Given the description of an element on the screen output the (x, y) to click on. 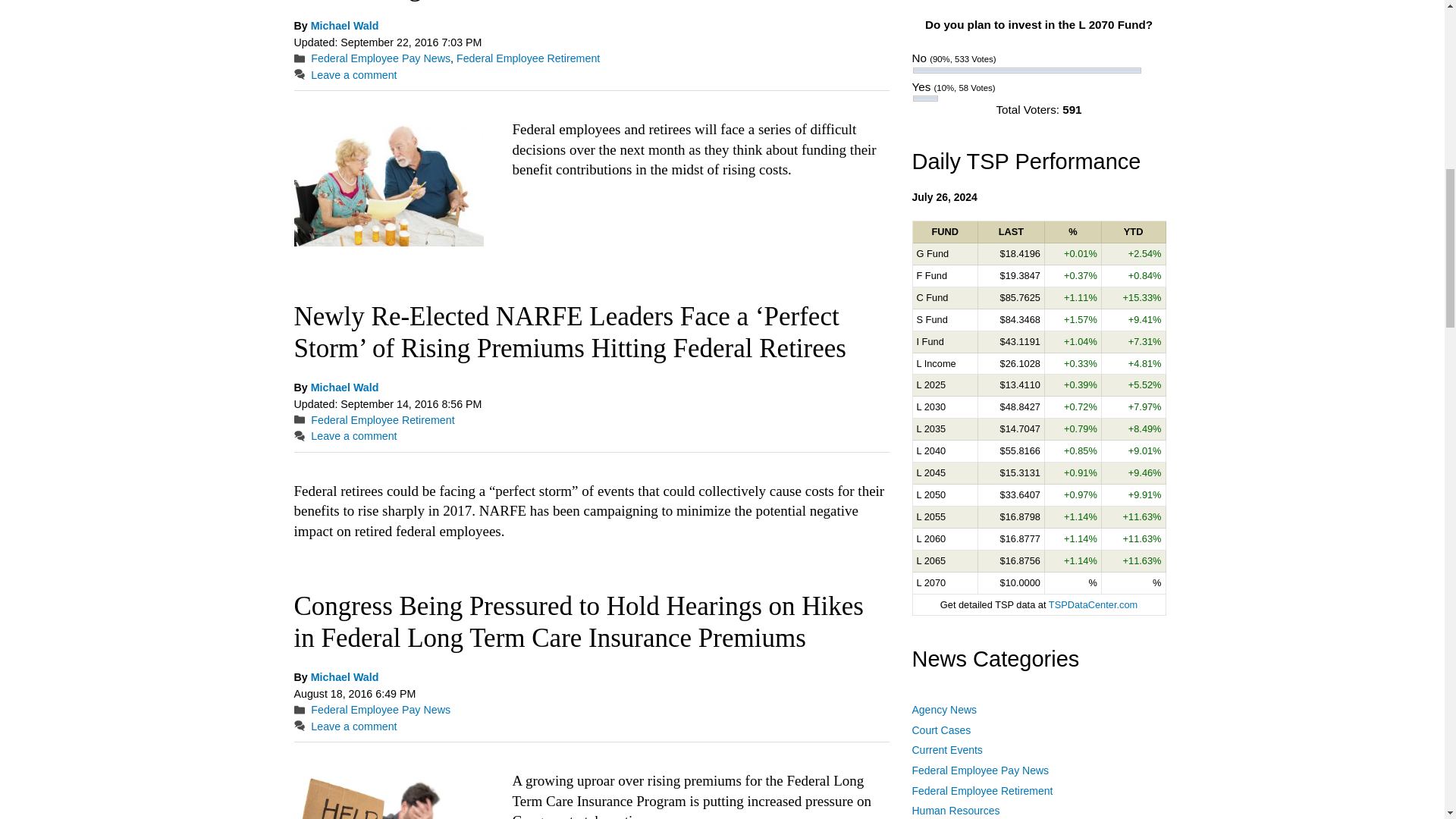
Federal Employee Retirement (382, 419)
Leave a comment (353, 726)
View all articles by Michael Wald (344, 25)
Michael Wald (344, 25)
Federal Employee Pay News (380, 709)
View all articles by Michael Wald (344, 387)
Federal Employee Retirement (528, 58)
Leave a comment (353, 74)
Leave a comment (353, 435)
Michael Wald (344, 676)
View all articles by Michael Wald (344, 676)
Michael Wald (344, 387)
Federal Employee Pay News (380, 58)
